Given the description of an element on the screen output the (x, y) to click on. 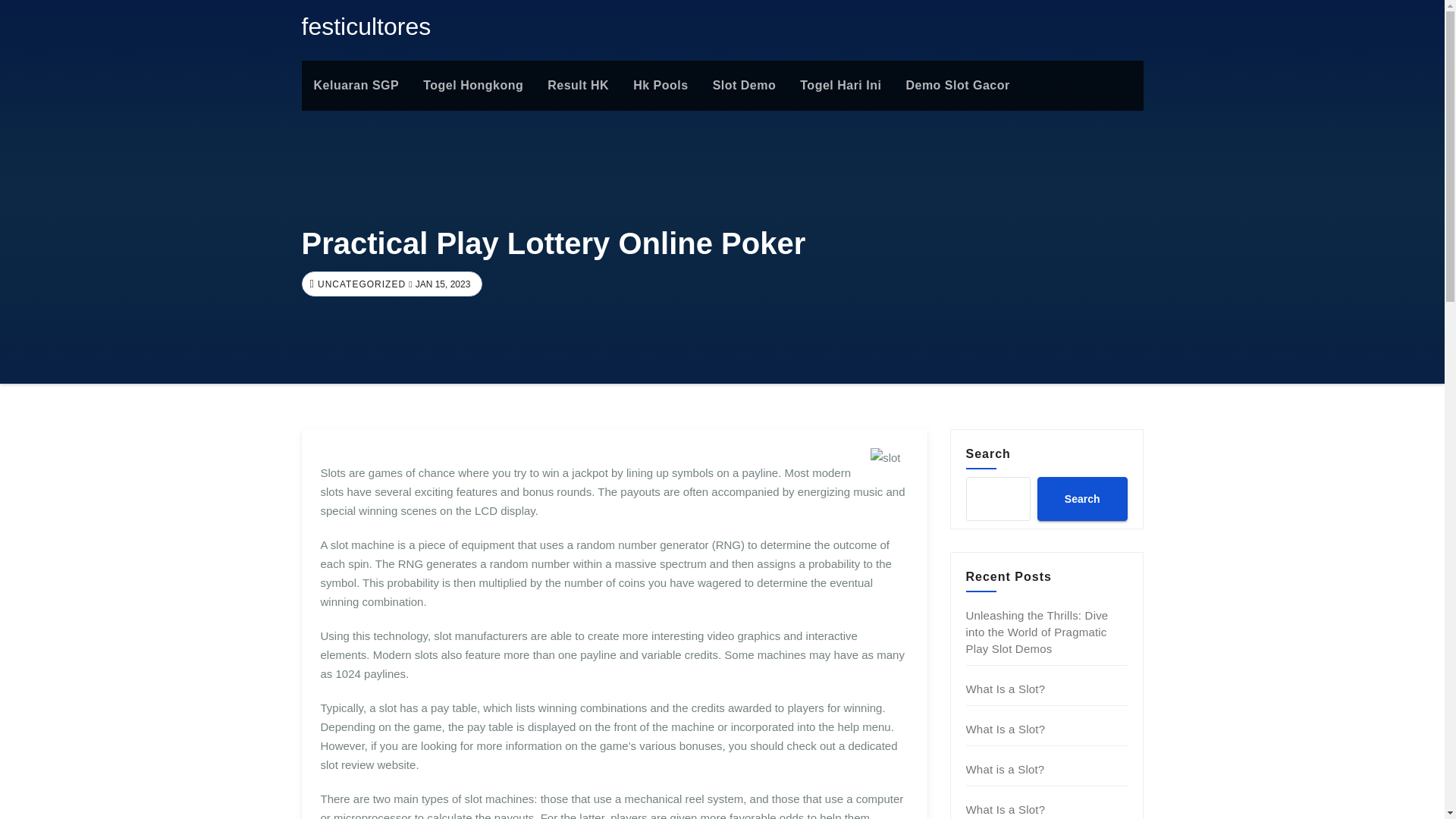
Togel Hongkong (472, 85)
UNCATEGORIZED (360, 284)
What Is a Slot? (1005, 809)
hk pools (660, 85)
Keluaran SGP (356, 85)
Slot Demo (744, 85)
Keluaran SGP (356, 85)
What is a Slot? (1005, 768)
demo slot gacor (957, 85)
Togel Hari Ini (840, 85)
Result HK (578, 85)
What Is a Slot? (1005, 688)
festicultores (365, 26)
Togel Hongkong (472, 85)
